Given the description of an element on the screen output the (x, y) to click on. 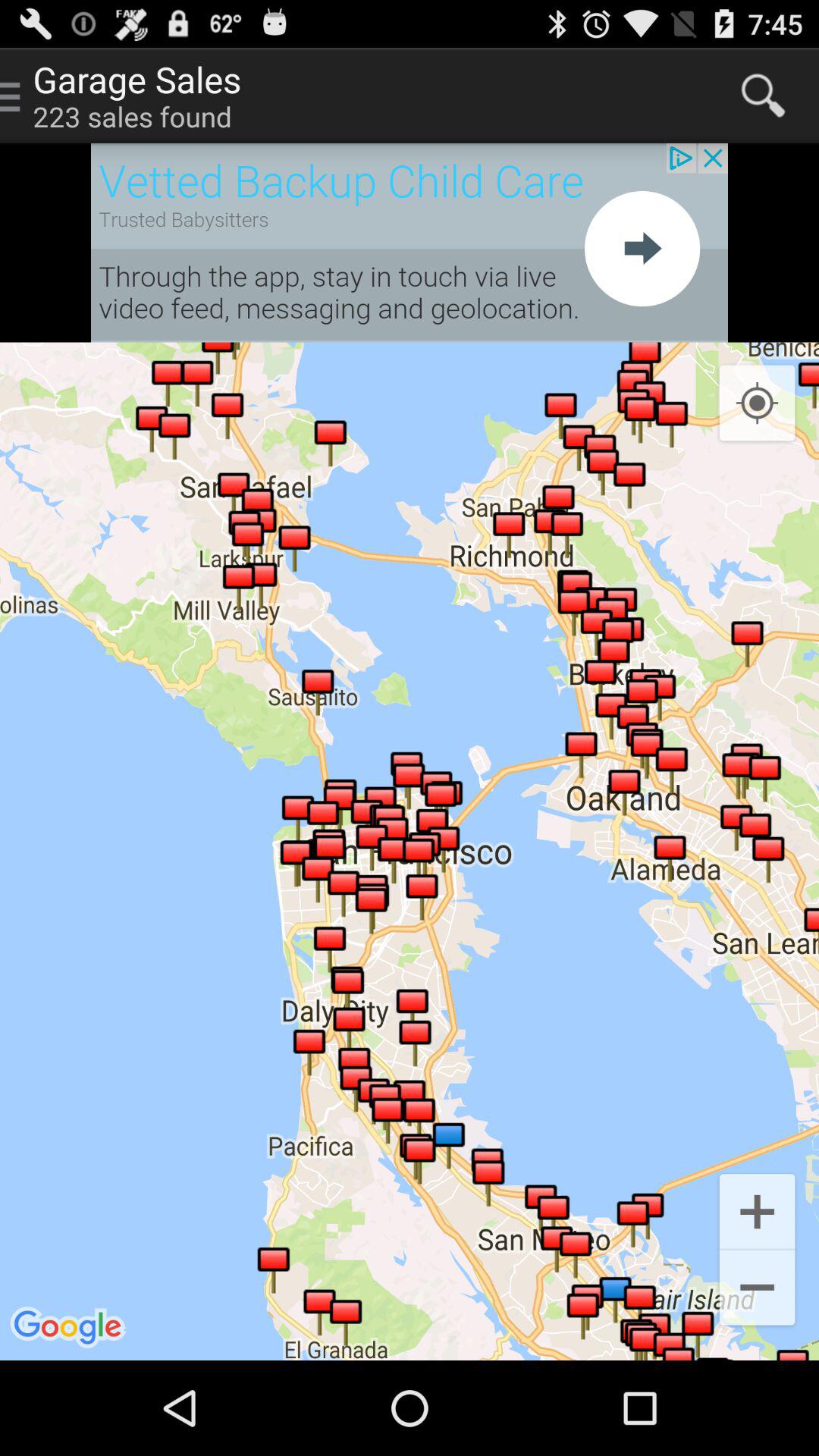
go to search (763, 95)
